Given the description of an element on the screen output the (x, y) to click on. 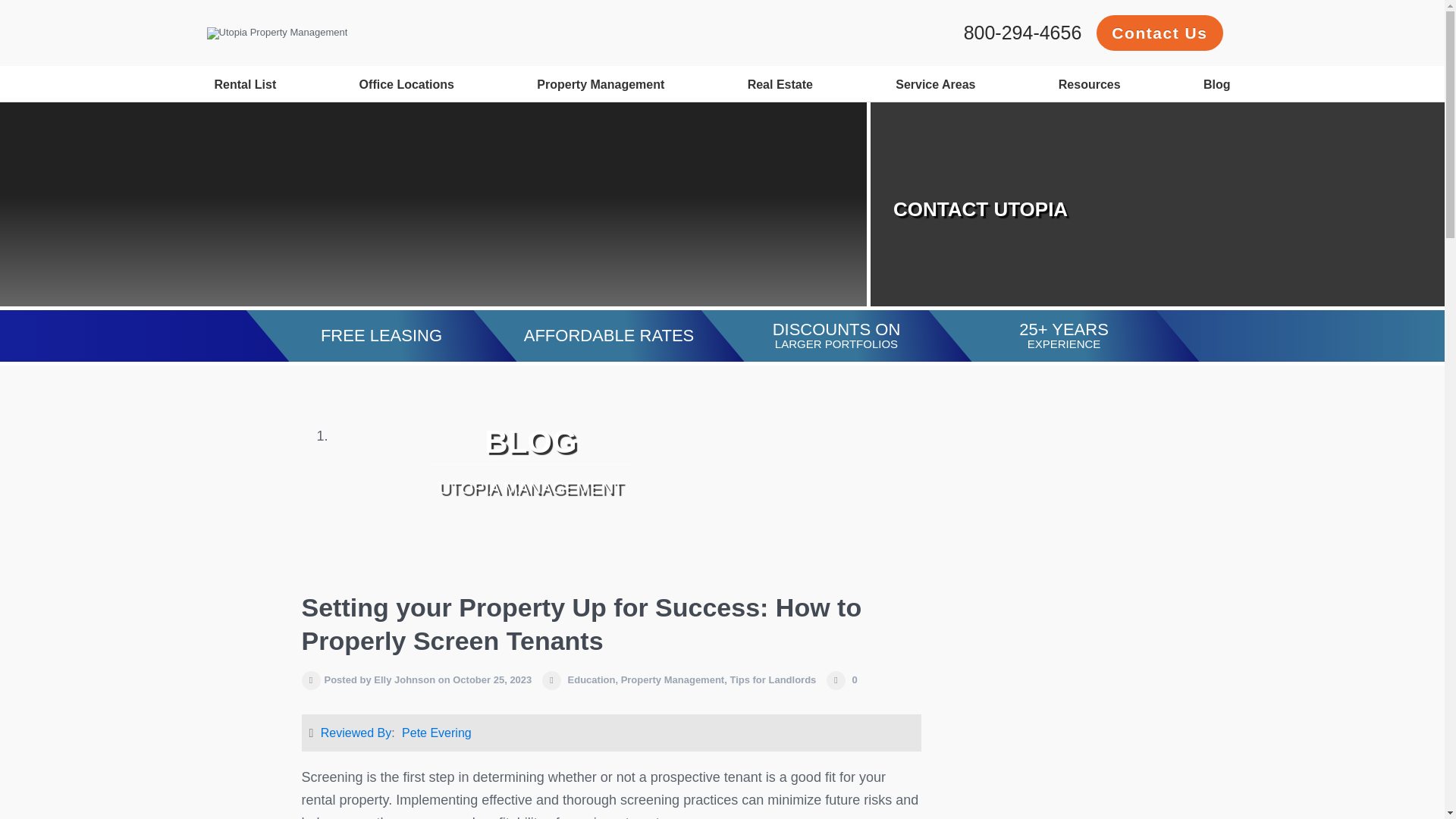
800-294-4656 (1022, 33)
Rental List (244, 84)
Office Locations (406, 84)
Contact Us (1159, 32)
